Given the description of an element on the screen output the (x, y) to click on. 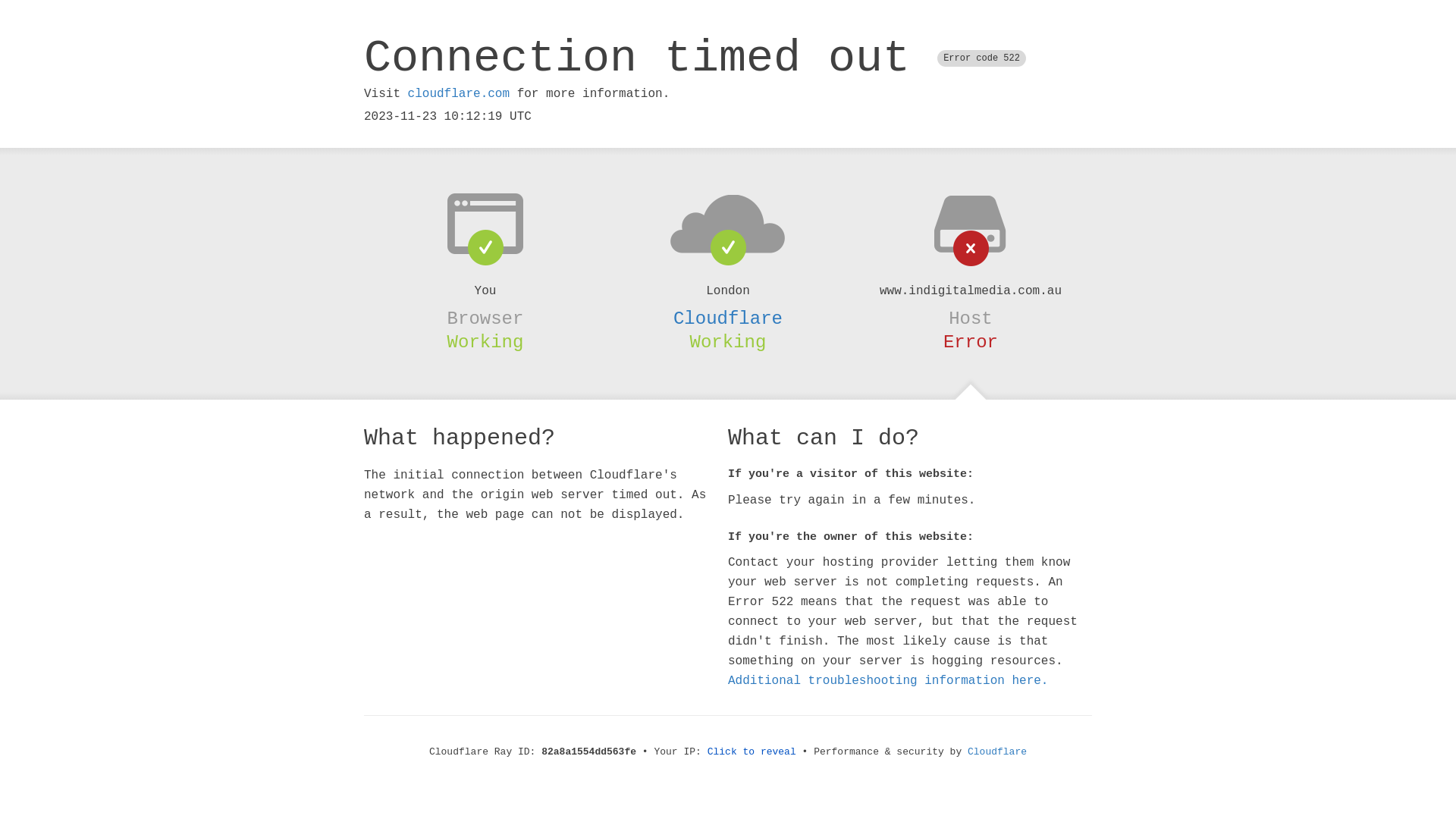
Cloudflare Element type: text (996, 751)
Click to reveal Element type: text (751, 751)
Additional troubleshooting information here. Element type: text (888, 680)
cloudflare.com Element type: text (458, 93)
Cloudflare Element type: text (727, 318)
